Given the description of an element on the screen output the (x, y) to click on. 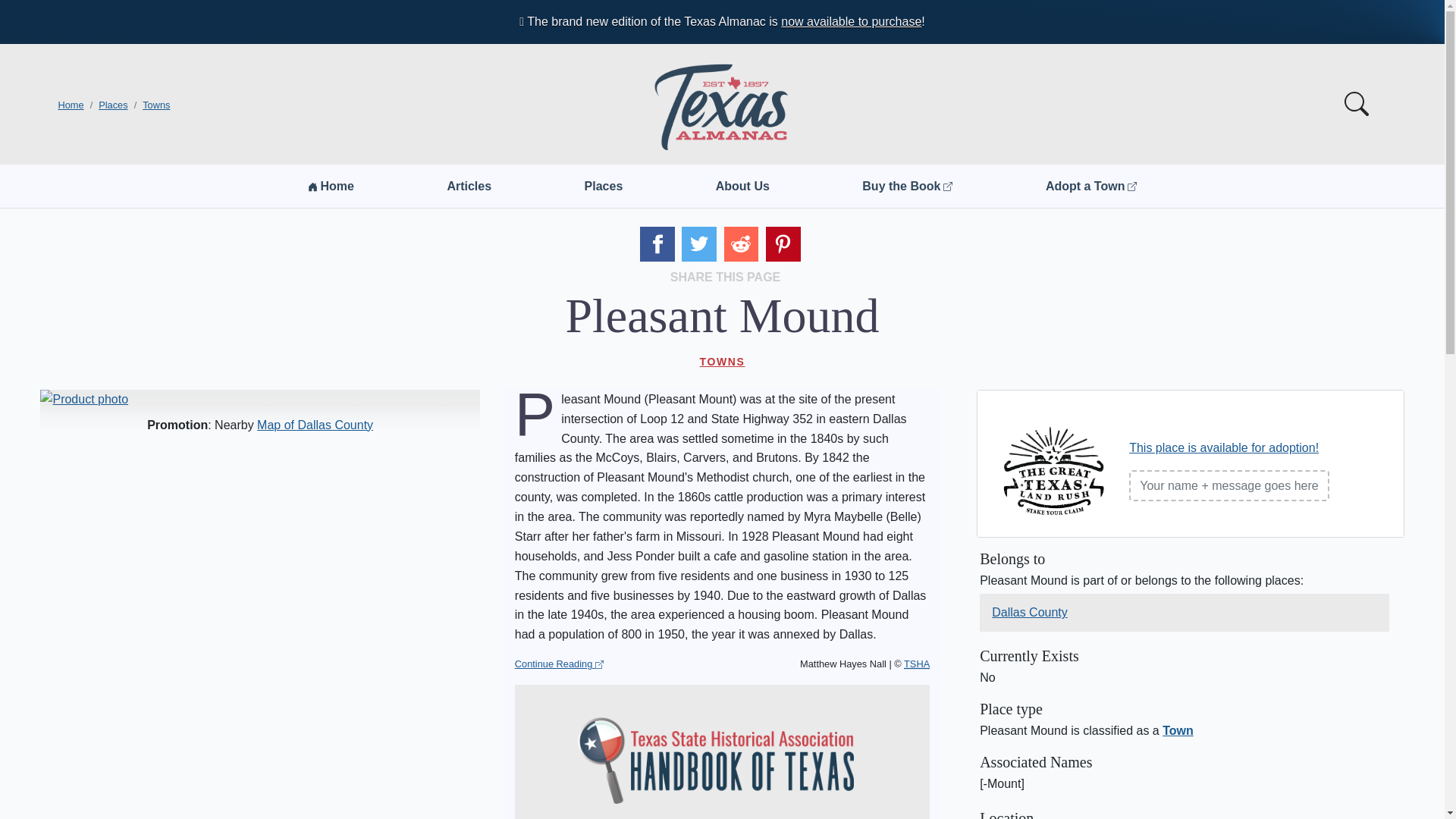
TSHA (917, 663)
Places (113, 105)
Dallas County (1029, 612)
now available to purchase (850, 21)
About Us (743, 186)
Home (330, 186)
Town (1177, 730)
Towns (156, 105)
Home (70, 105)
Map of Dallas County (314, 424)
TOWNS (722, 361)
Articles (469, 186)
Places (603, 186)
This place is available for adoption! (1224, 447)
Continue Reading (559, 664)
